Given the description of an element on the screen output the (x, y) to click on. 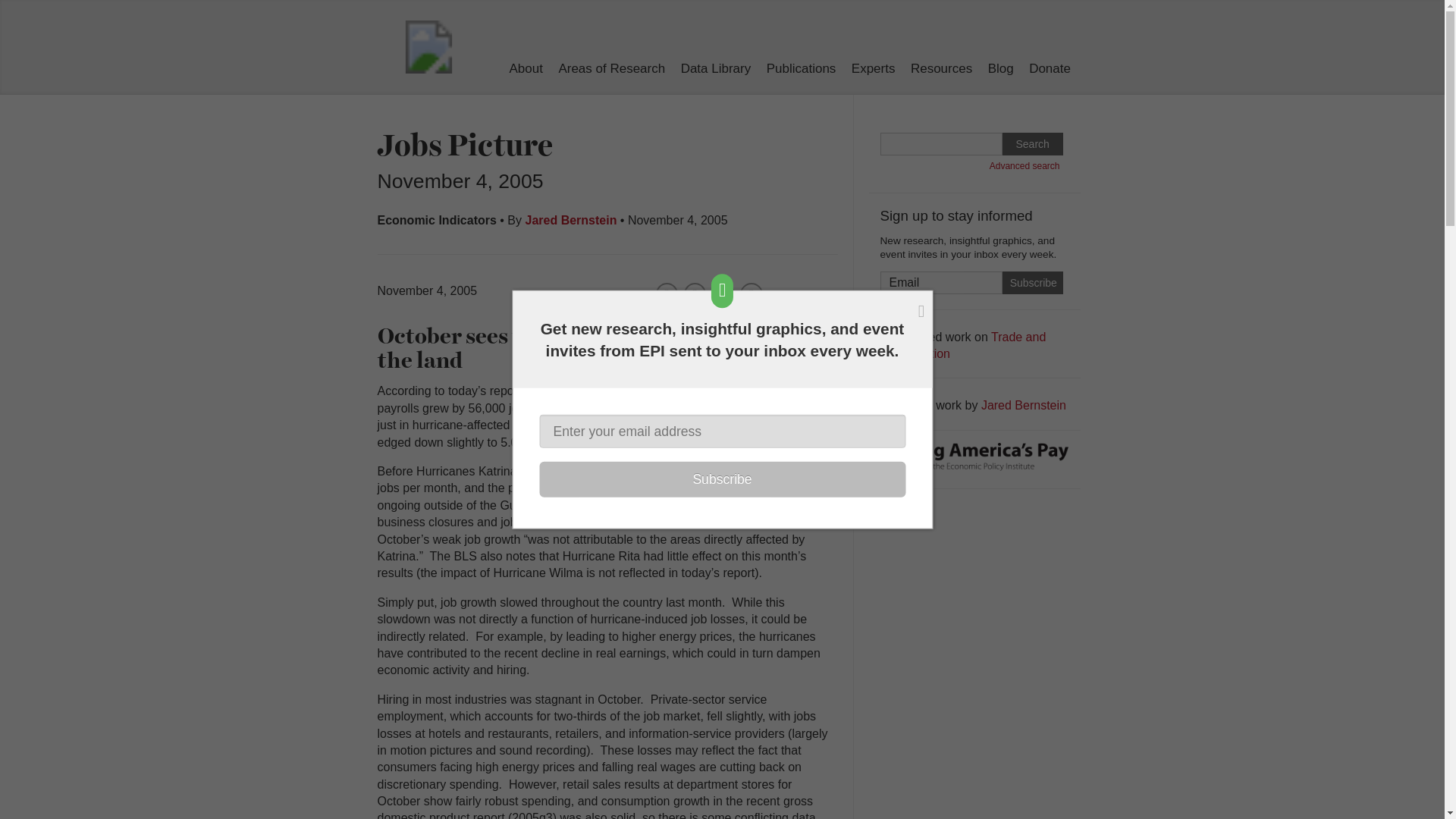
Subscribe (1032, 282)
Publications (801, 68)
About (526, 68)
Areas of Research (611, 68)
Resources (941, 68)
Email (941, 282)
Experts (873, 68)
Search (1032, 143)
Data Library (716, 68)
